Given the description of an element on the screen output the (x, y) to click on. 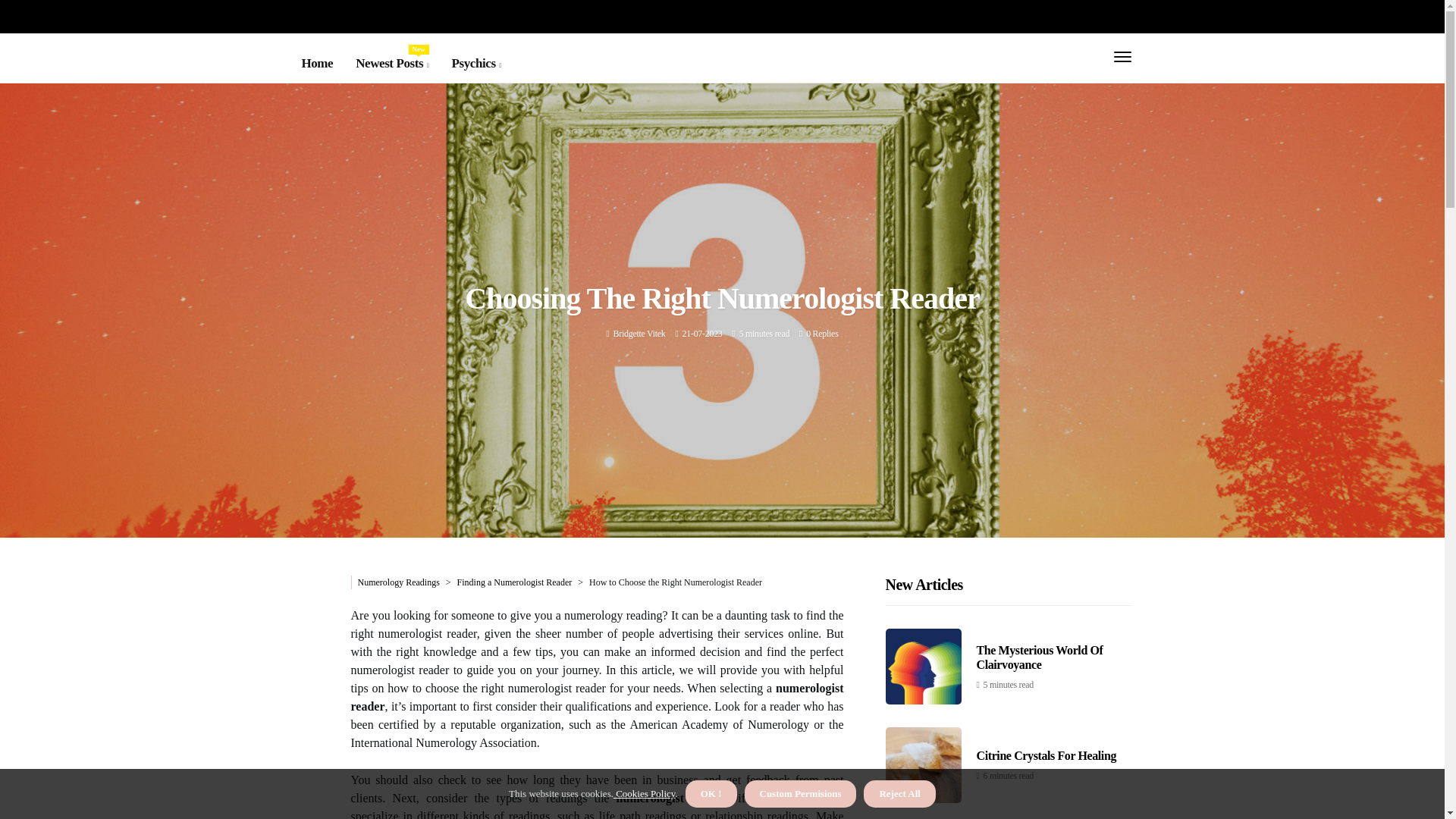
Posts by Bridgette Vitek (391, 63)
